Given the description of an element on the screen output the (x, y) to click on. 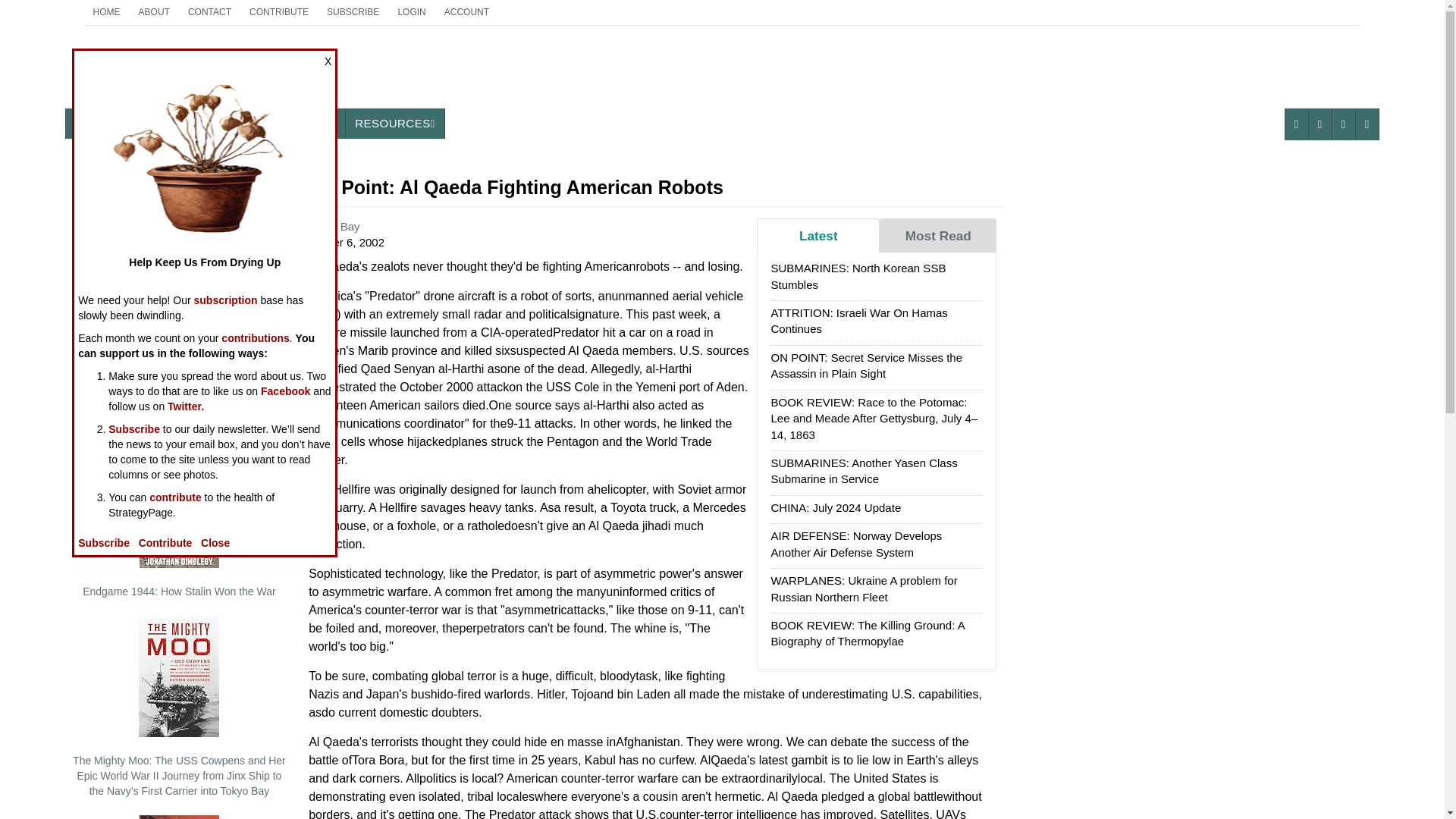
SUBSCRIBE (352, 12)
LOGIN (410, 12)
NEWS (181, 72)
OTHER (94, 123)
RESOURCES (313, 123)
PHOTOS (395, 123)
CONTRIBUTE (245, 123)
HOME (278, 12)
ACCOUNT (106, 12)
ABOUT (466, 12)
FEATURES (154, 12)
CONTACT (168, 123)
